Given the description of an element on the screen output the (x, y) to click on. 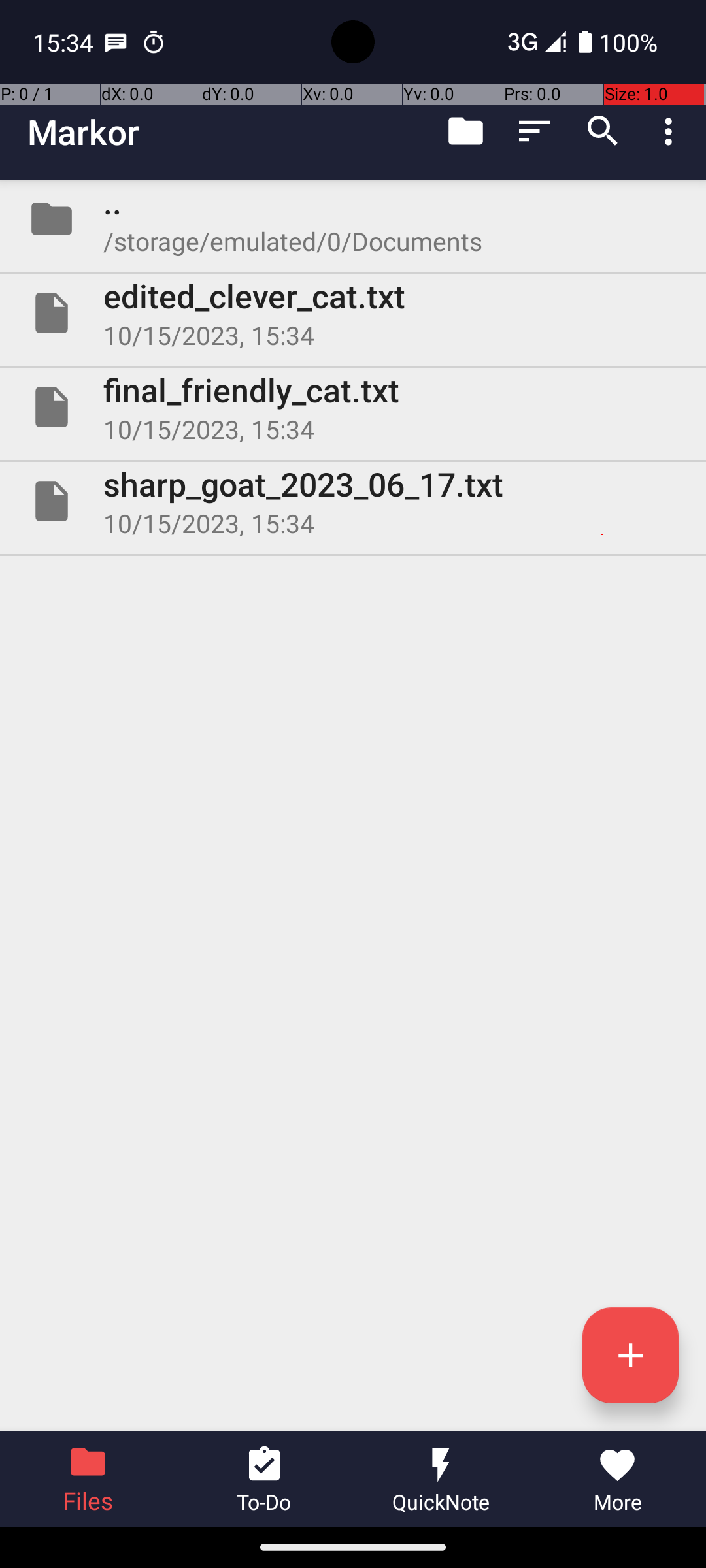
File edited_clever_cat.txt  Element type: android.widget.LinearLayout (353, 312)
File final_friendly_cat.txt  Element type: android.widget.LinearLayout (353, 406)
File sharp_goat_2023_06_17.txt  Element type: android.widget.LinearLayout (353, 500)
